Given the description of an element on the screen output the (x, y) to click on. 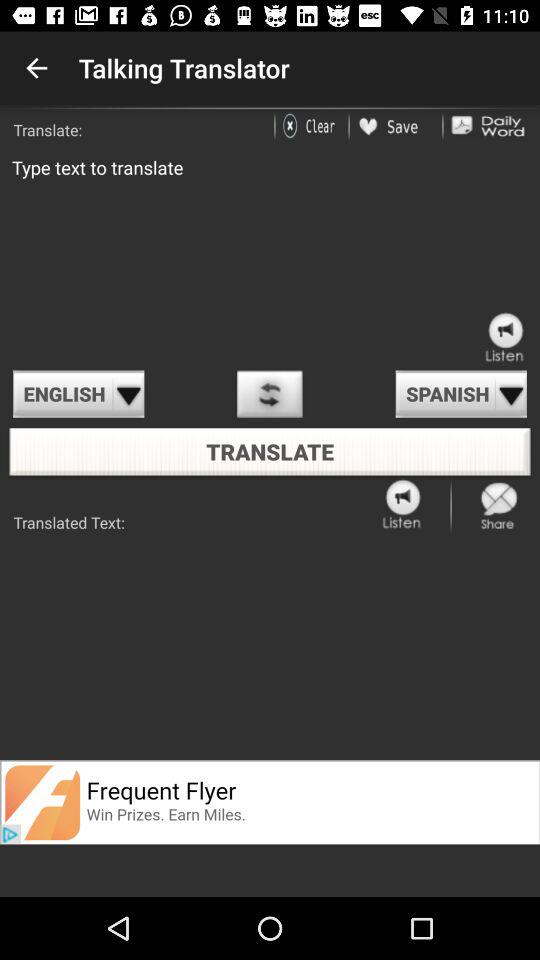
play option (269, 393)
